Given the description of an element on the screen output the (x, y) to click on. 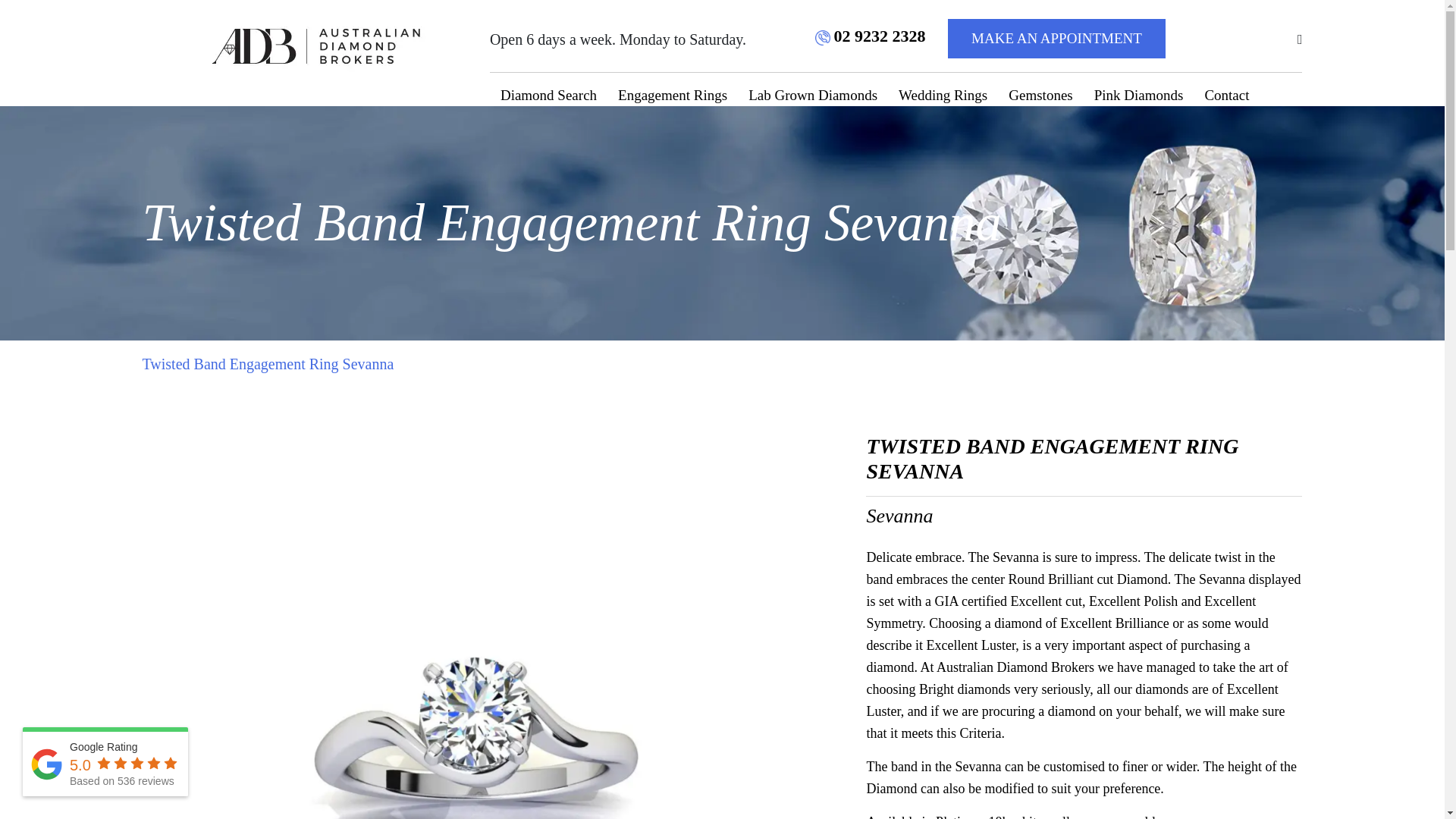
Wedding Rings (942, 94)
02 9232 2328 (870, 35)
Lab Grown Diamonds (813, 94)
MAKE AN APPOINTMENT (1056, 38)
Contact (1226, 94)
Diamond Search (548, 94)
Pink Diamonds (1138, 94)
Gemstones (1040, 94)
Engagement Rings (672, 94)
